Given the description of an element on the screen output the (x, y) to click on. 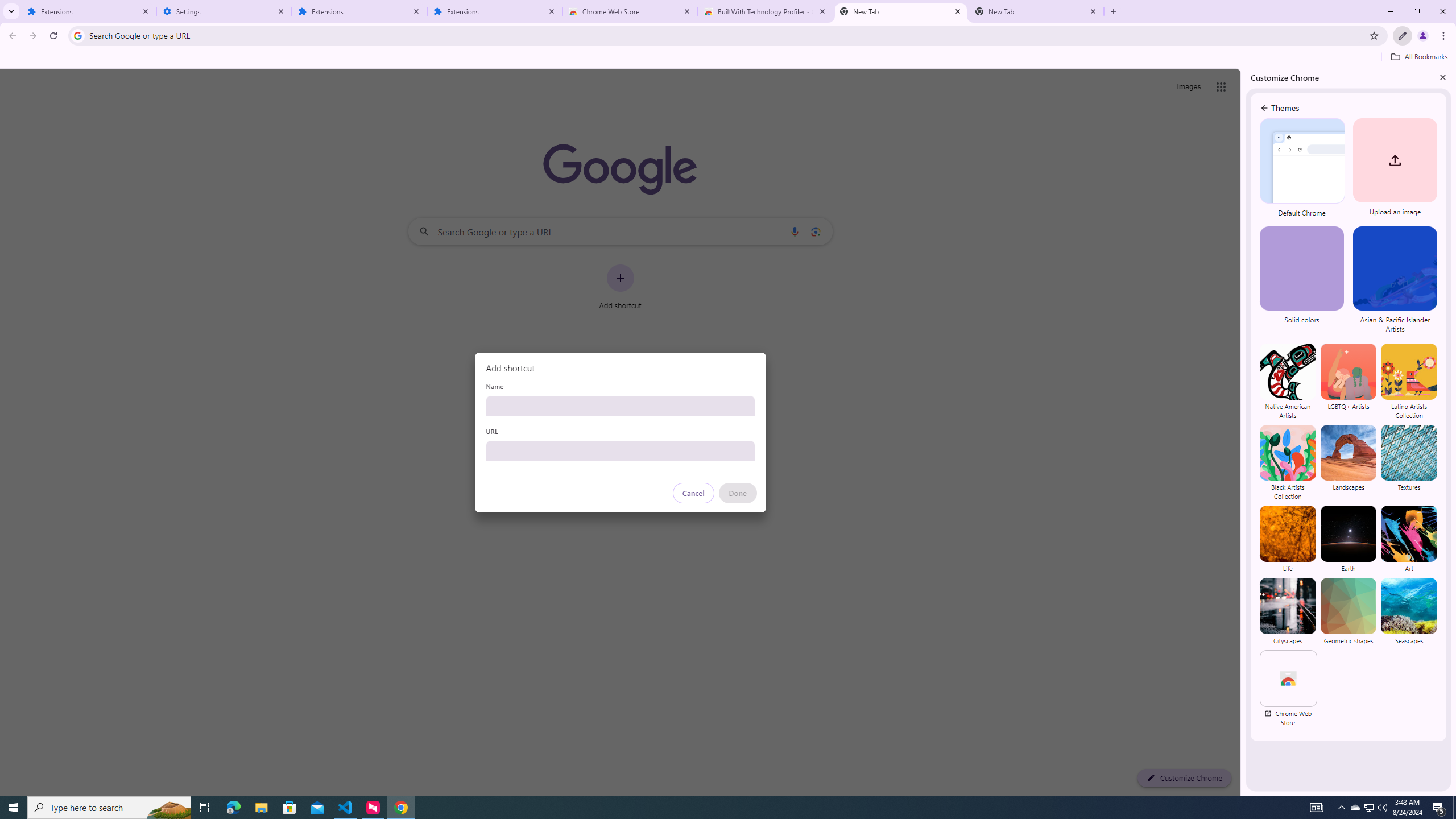
Geometric shapes (1348, 611)
Landscapes (1348, 462)
Chrome Web Store (630, 11)
Latino Artists Collection (1408, 381)
Earth (1348, 539)
Cancel (693, 493)
AutomationID: chromeWebStore (1288, 678)
Customize Chrome (1402, 35)
Extensions (494, 11)
Extensions (88, 11)
Extensions (359, 11)
